Given the description of an element on the screen output the (x, y) to click on. 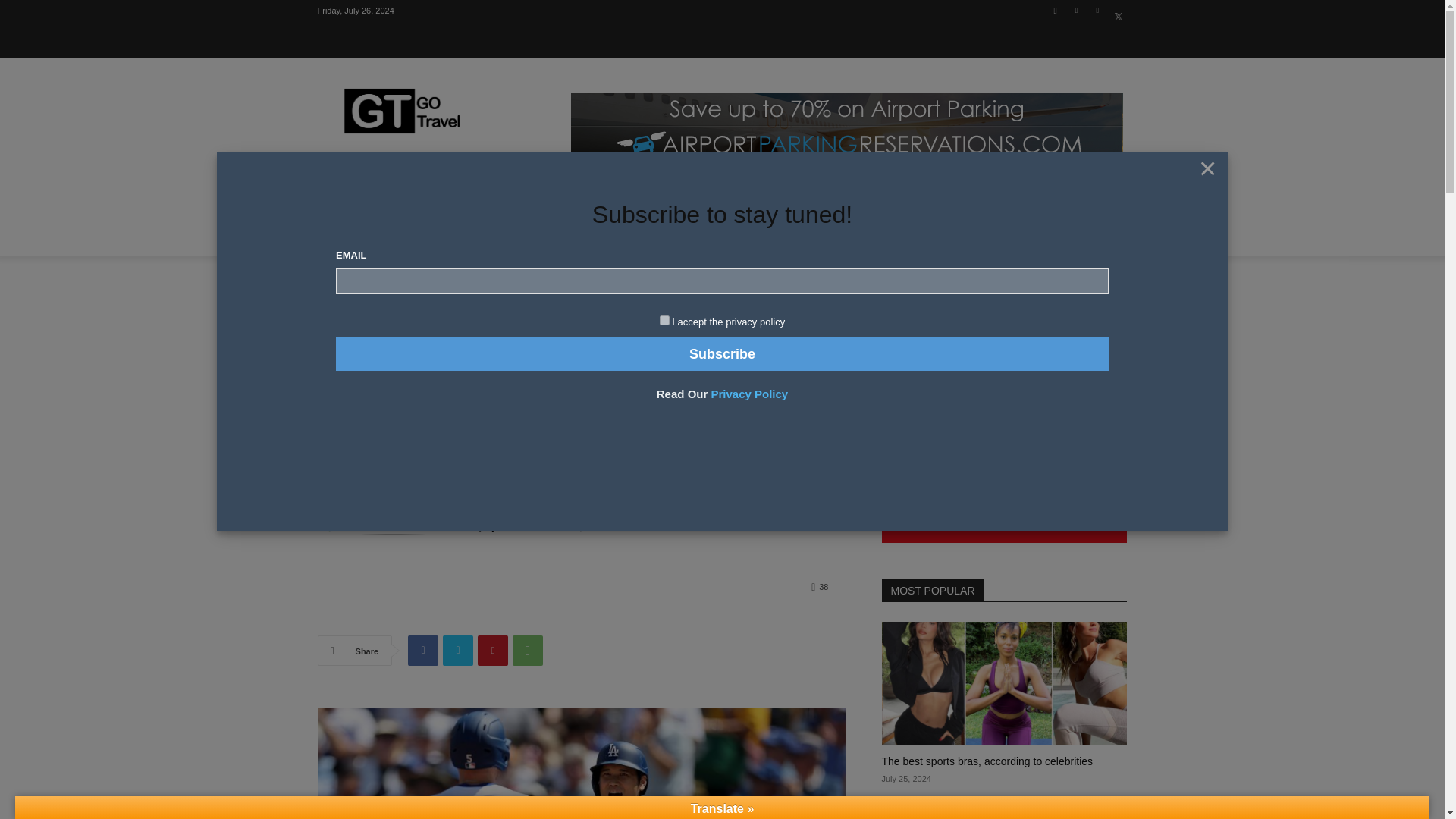
Pinterest (1097, 9)
View all posts in Cruise (363, 278)
Twitter (1117, 9)
Linkedin (1075, 9)
Facebook (1055, 9)
on (664, 320)
Subscribe (722, 354)
